Given the description of an element on the screen output the (x, y) to click on. 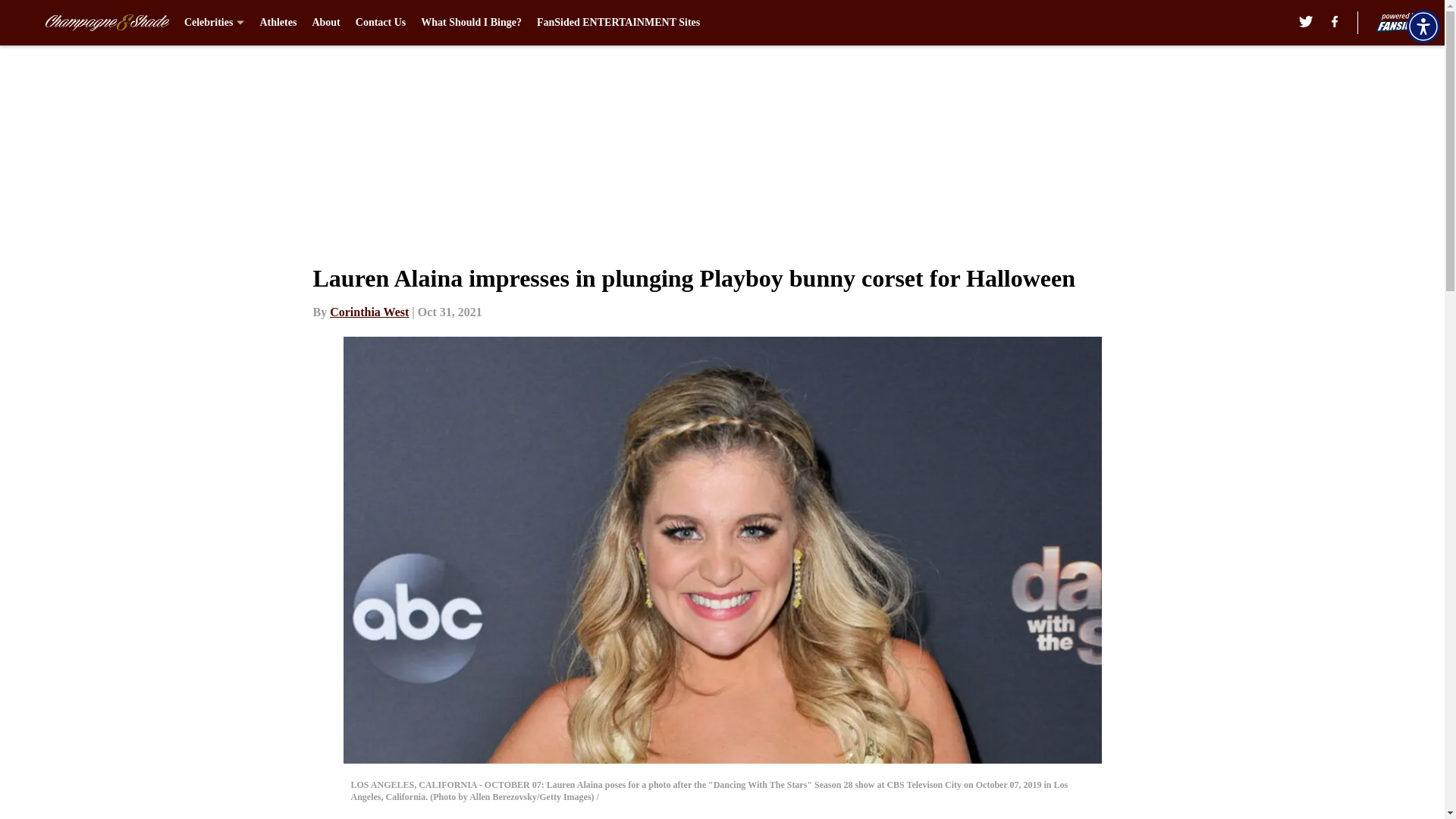
What Should I Binge? (470, 22)
Accessibility Menu (1422, 26)
Athletes (278, 22)
Contact Us (380, 22)
FanSided ENTERTAINMENT Sites (618, 22)
About (325, 22)
Corinthia West (369, 311)
